Given the description of an element on the screen output the (x, y) to click on. 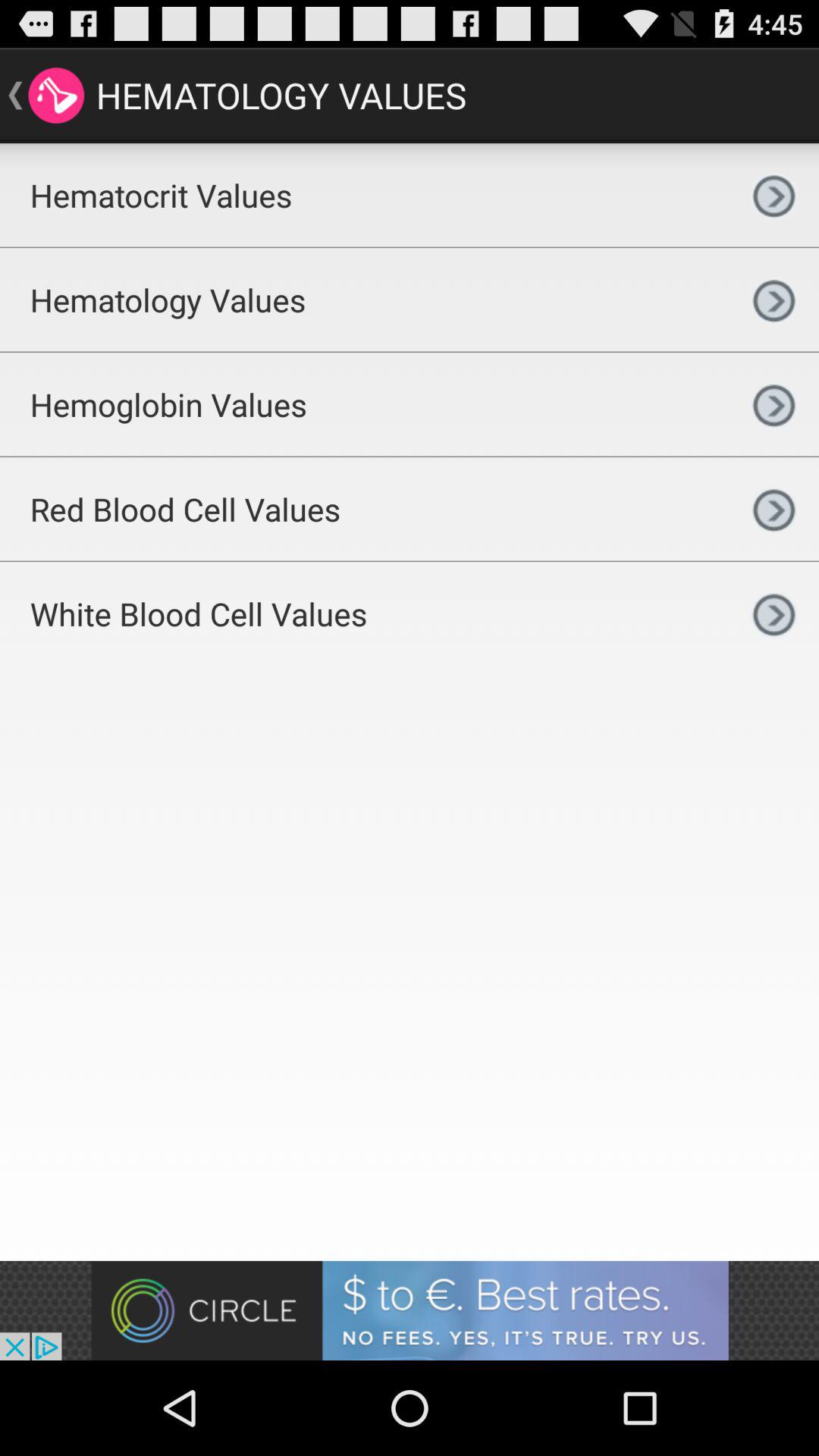
view advertisement (409, 1310)
